Given the description of an element on the screen output the (x, y) to click on. 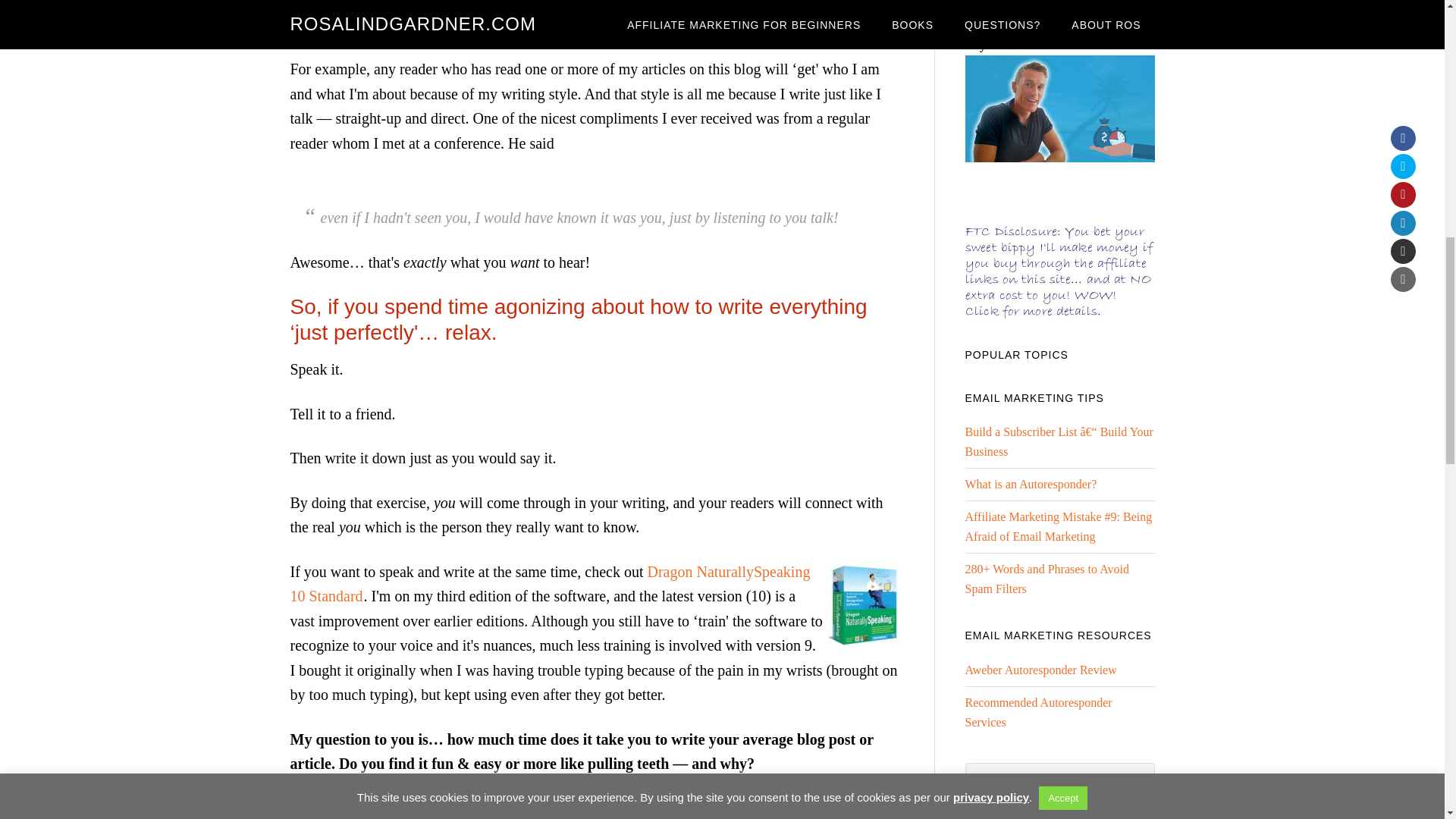
Dragon NaturallySpeaking 10 Standard (549, 584)
Aweber Autoresponder Review (1039, 669)
What is an Autoresponder? (1029, 483)
Recommended Autoresponder Services (1037, 712)
